Given the description of an element on the screen output the (x, y) to click on. 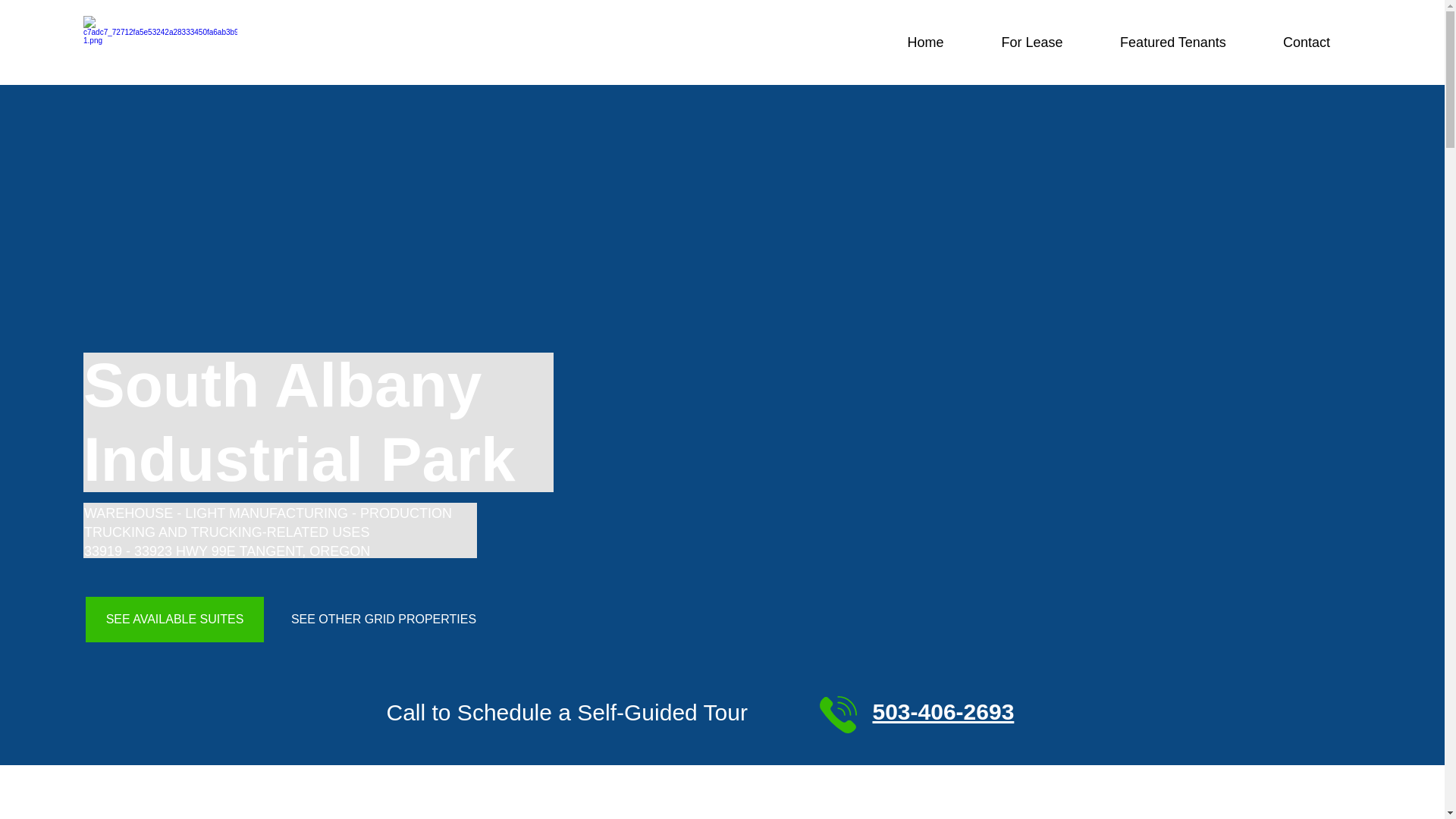
SEE OTHER GRID PROPERTIES (383, 619)
Contact (1305, 42)
Featured Tenants (1171, 42)
Home (925, 42)
503-406-2693 (942, 711)
SEE AVAILABLE SUITES (174, 619)
